Given the description of an element on the screen output the (x, y) to click on. 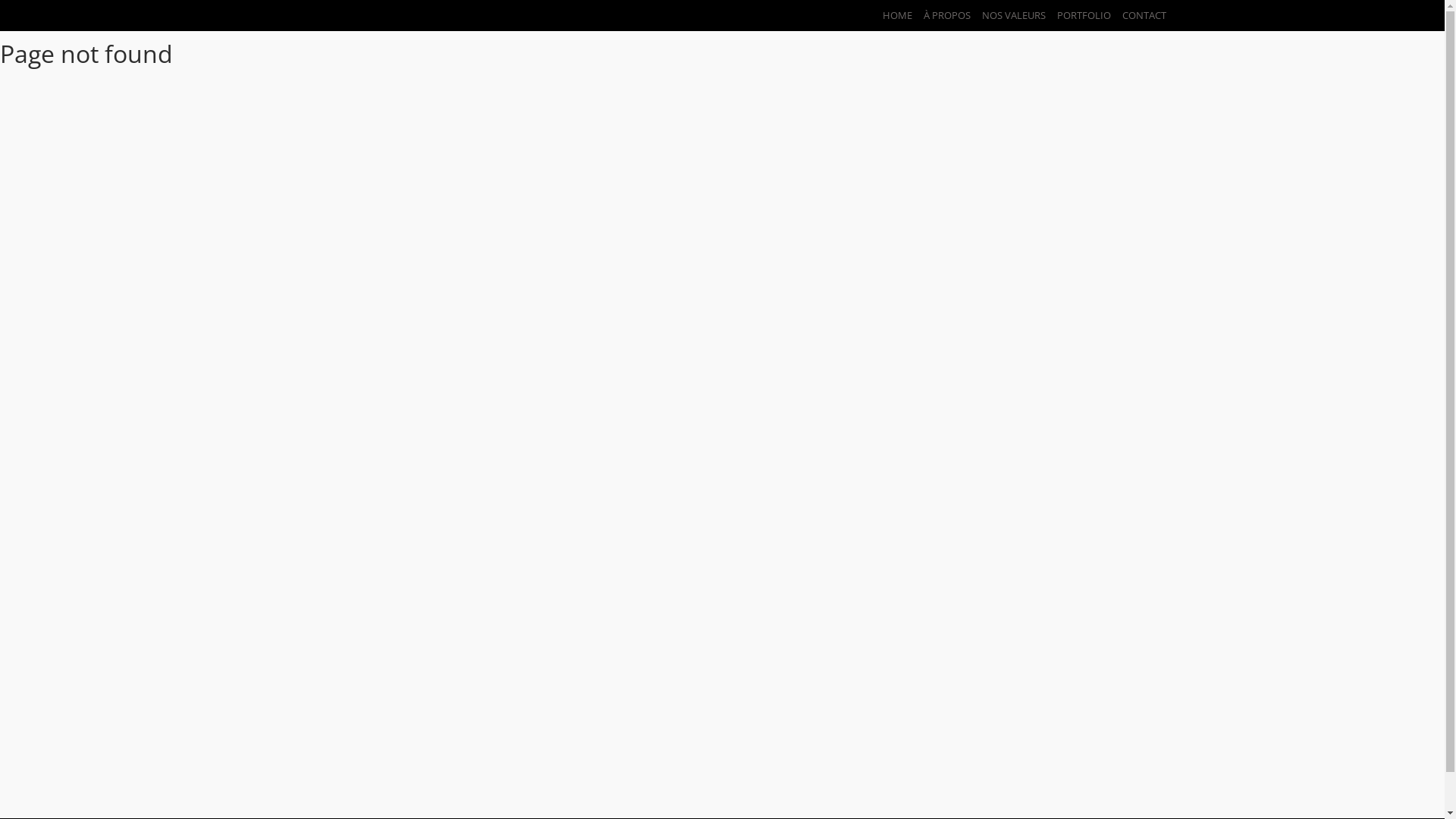
CONTACT Element type: text (1137, 15)
HOME Element type: text (890, 15)
NOS VALEURS Element type: text (1007, 15)
PORTFOLIO Element type: text (1077, 15)
